Given the description of an element on the screen output the (x, y) to click on. 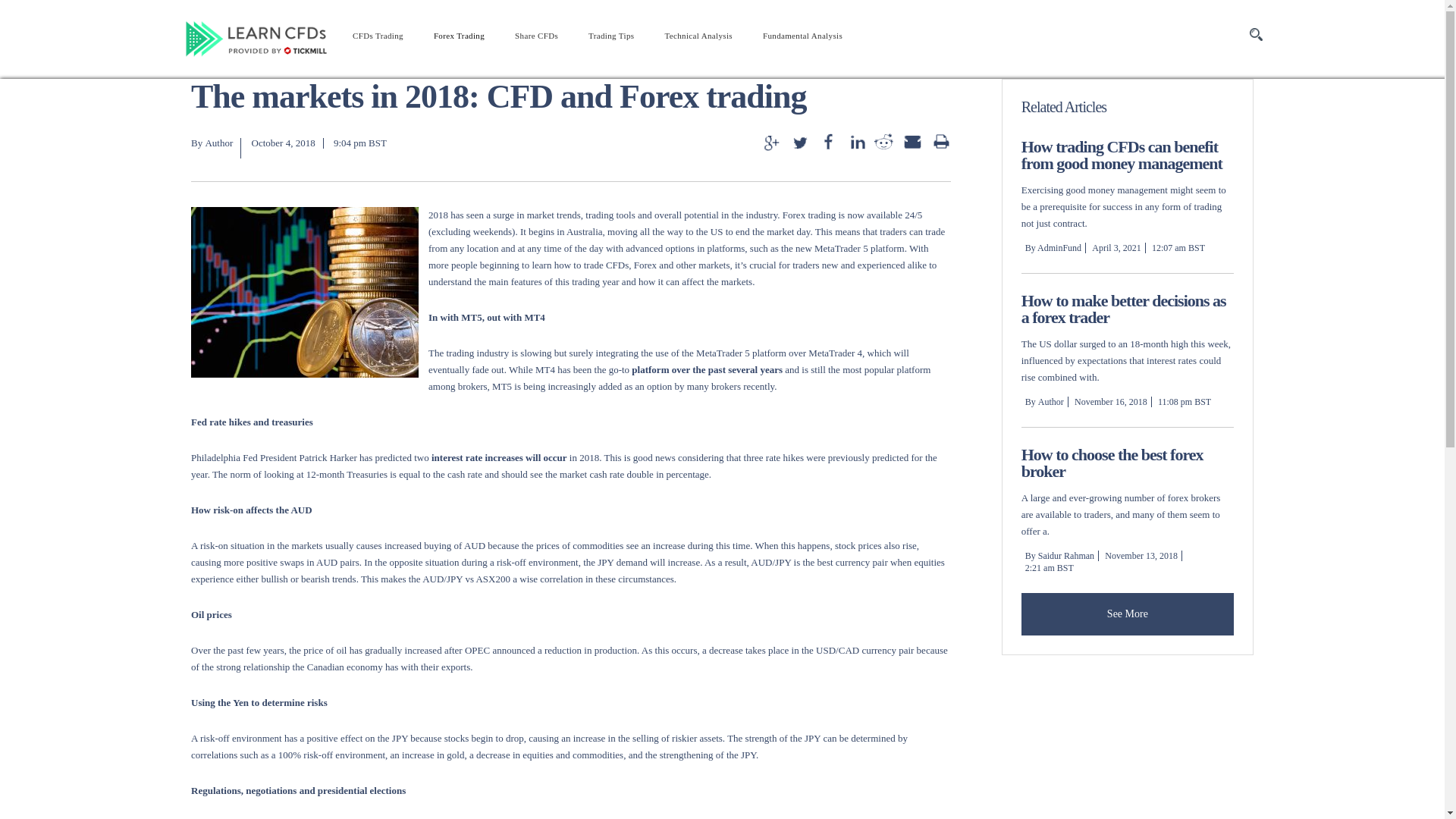
interest rate increases will occur (498, 457)
Share CFDs (536, 34)
Author (218, 143)
Search (1255, 34)
How trading CFDs can benefit from good money management (1122, 154)
Vote on Reddit (885, 141)
platform over the past several years (707, 369)
How to choose the best forex broker (1113, 462)
Forex Trading (459, 34)
See More (1127, 613)
